Given the description of an element on the screen output the (x, y) to click on. 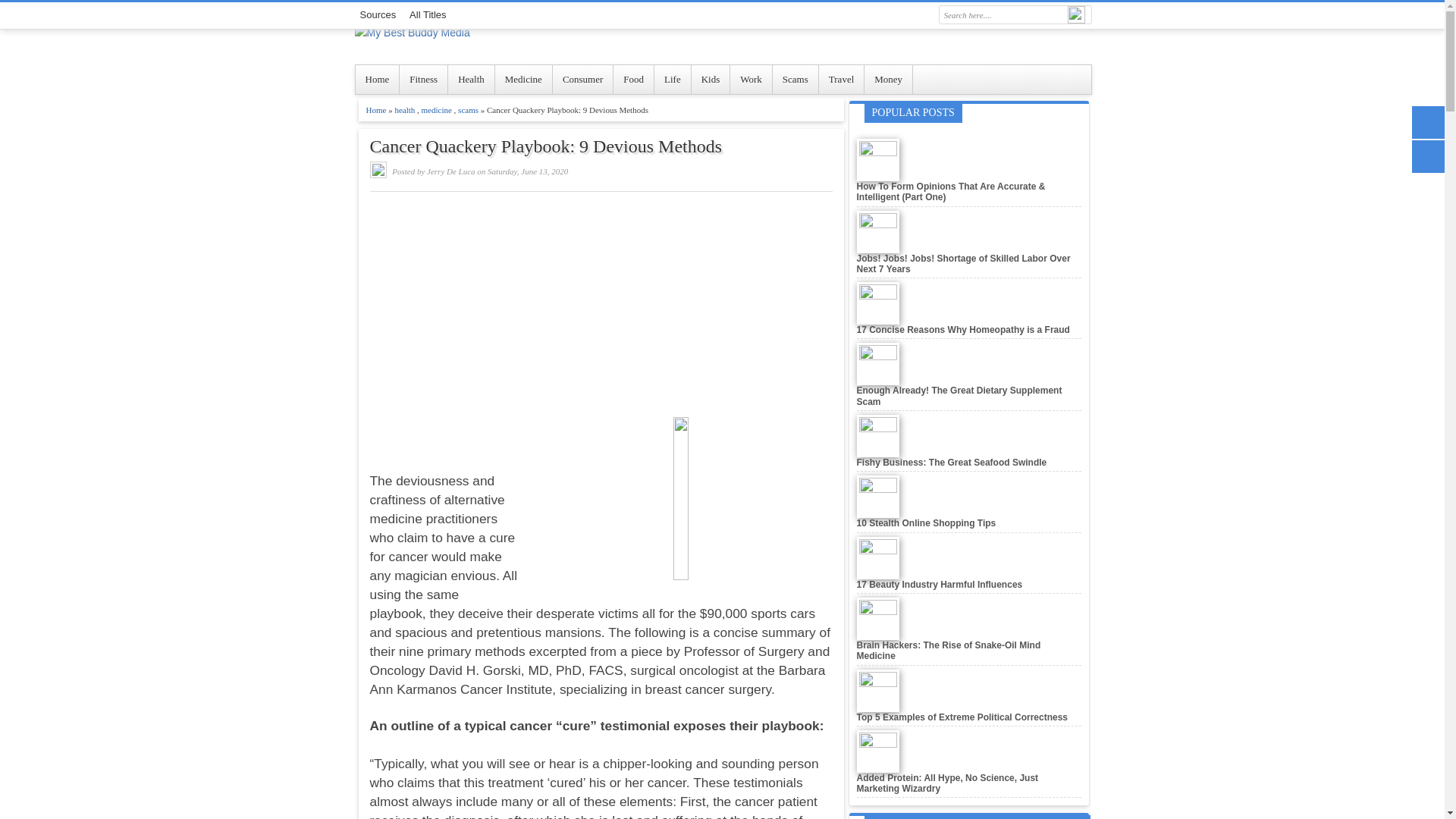
Go (1075, 14)
Money (888, 79)
Consumer (582, 79)
Home (376, 109)
Health (471, 79)
Life (672, 79)
Home (376, 79)
Search here.... (1001, 15)
Scams (795, 79)
medicine (438, 109)
scams (469, 109)
Travel (841, 79)
Cancer Quackery Playbook: 9 Devious Methods (600, 146)
Medicine (524, 79)
Search here.... (1001, 15)
